Given the description of an element on the screen output the (x, y) to click on. 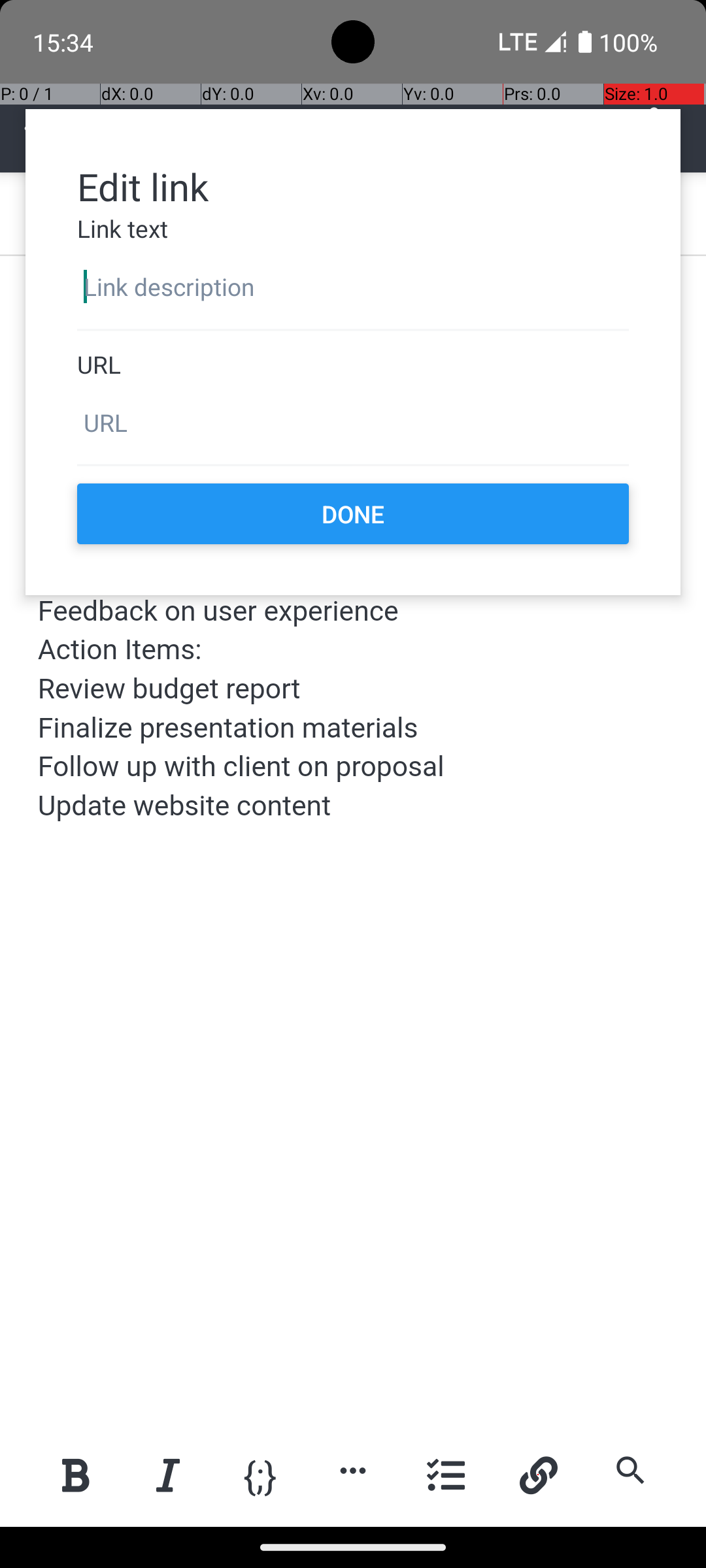
Edit link Element type: android.widget.TextView (352, 185)
Link text Element type: android.widget.TextView (352, 228)
Link description Element type: android.widget.EditText (352, 287)
URL Element type: android.widget.TextView (352, 363)
DONE Element type: android.widget.TextView (352, 513)
